Given the description of an element on the screen output the (x, y) to click on. 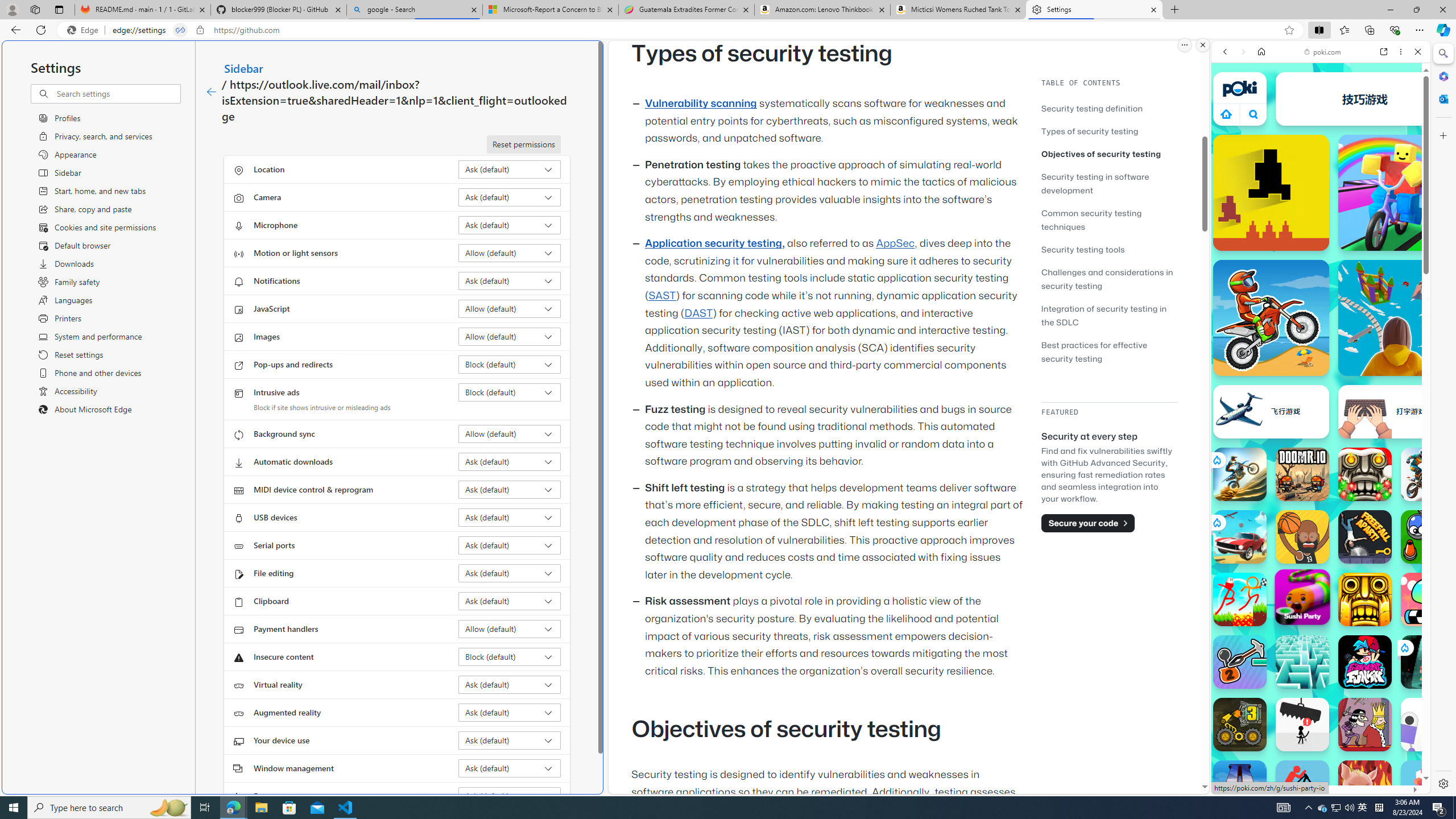
Types of security testing (1109, 130)
Stunt Bike Extreme (1239, 474)
Images Allow (default) (509, 336)
Games for Girls (1320, 406)
Copilot (Ctrl+Shift+.) (1442, 29)
Global web icon (1232, 755)
Collections (1369, 29)
Level Devil (1270, 192)
Hills of Steel (1253, 574)
Sidebar (243, 67)
Io Games (1320, 351)
Combat Reloaded (1349, 580)
Moto X3M Moto X3M (1270, 317)
Crossy Road Crossy Road (1427, 787)
Trial Mania (1427, 474)
